Given the description of an element on the screen output the (x, y) to click on. 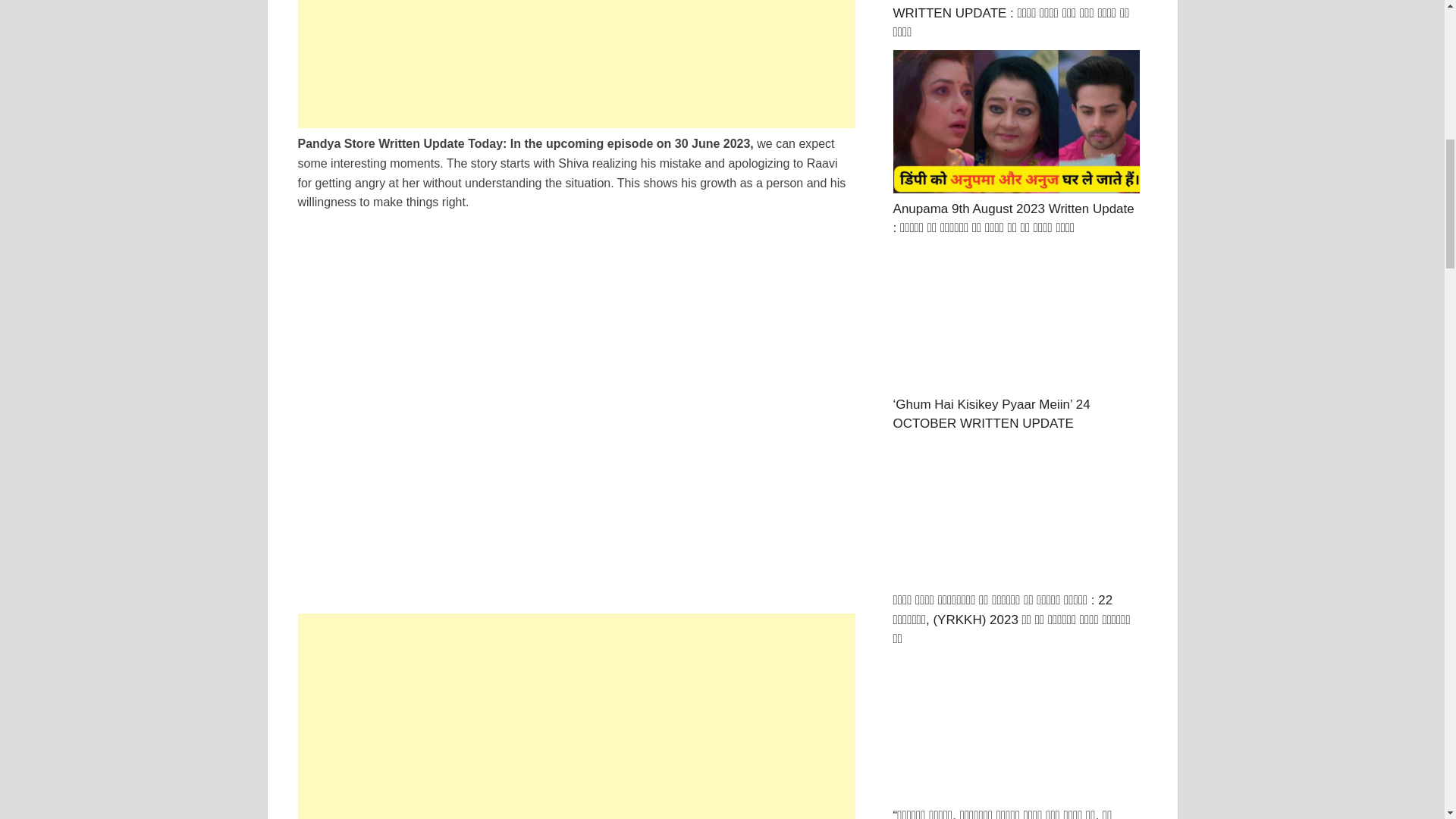
Advertisement (575, 63)
Advertisement (575, 716)
